Given the description of an element on the screen output the (x, y) to click on. 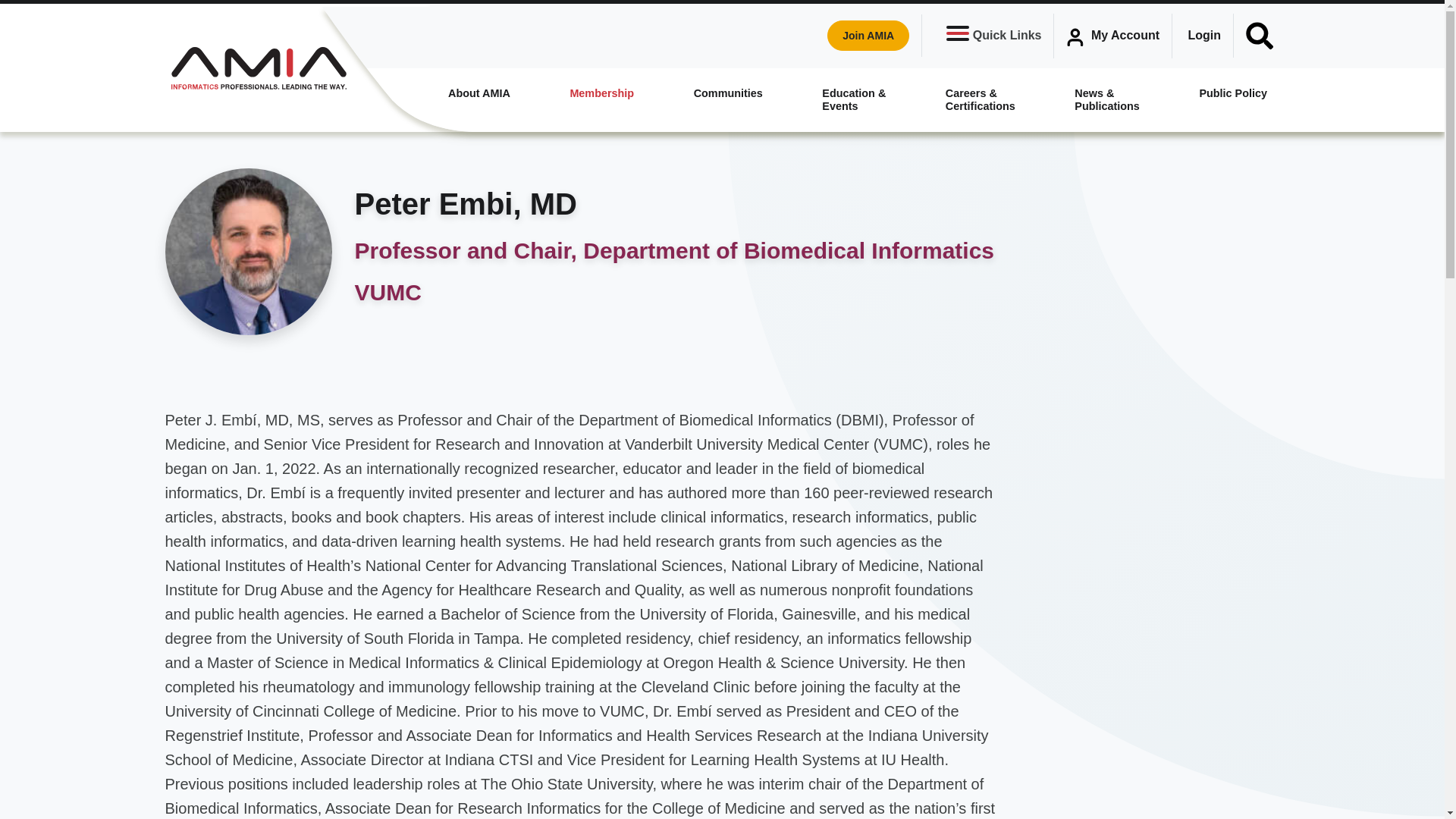
About AMIA (479, 93)
Membership (601, 93)
description of the page (479, 93)
Join AMIA (867, 35)
AMIA Homepage (258, 67)
My Account (1113, 35)
Communities (727, 93)
Login (1204, 34)
